Given the description of an element on the screen output the (x, y) to click on. 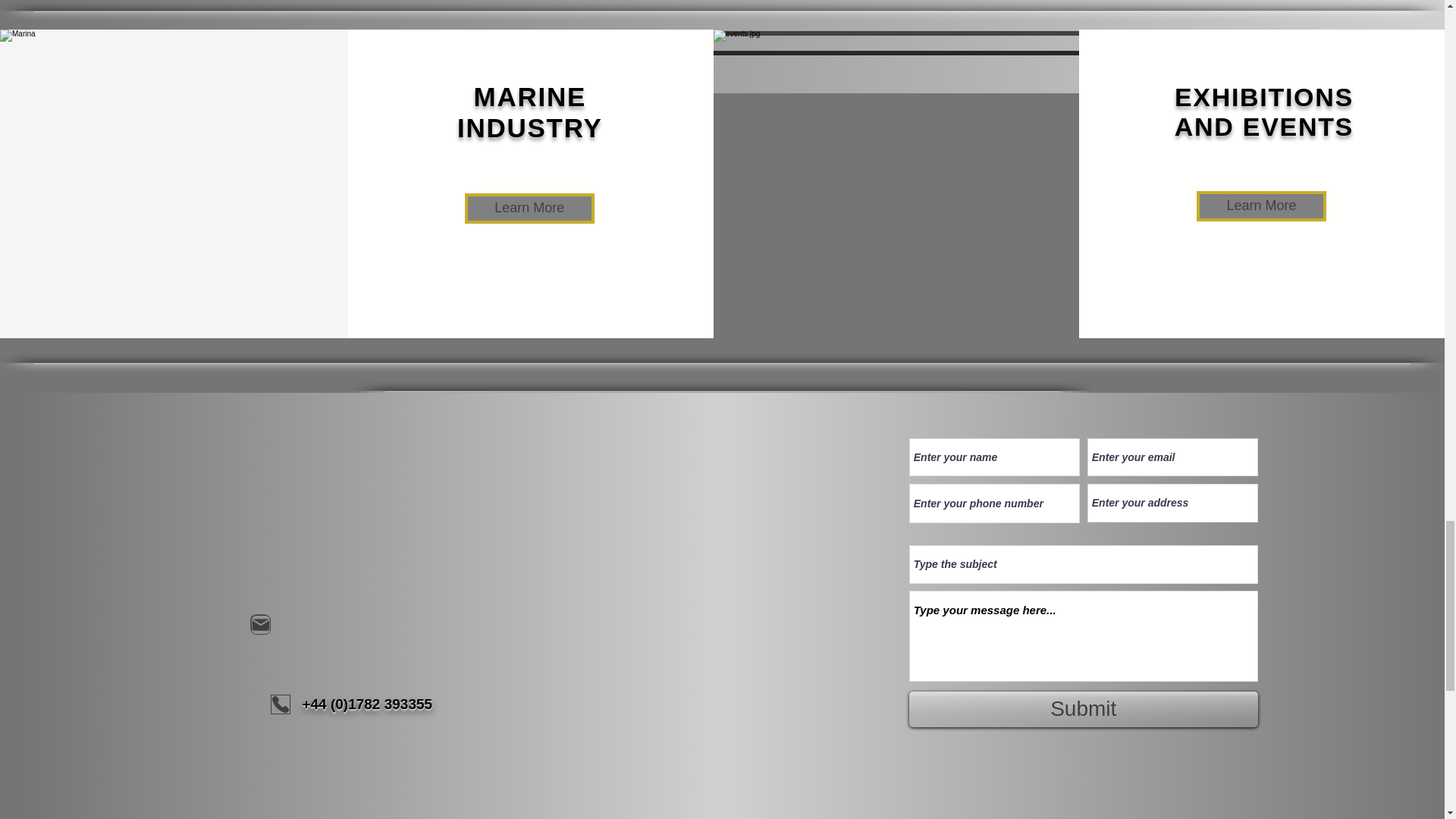
Learn More (529, 208)
Learn More (1261, 205)
Submit (1082, 709)
